Given the description of an element on the screen output the (x, y) to click on. 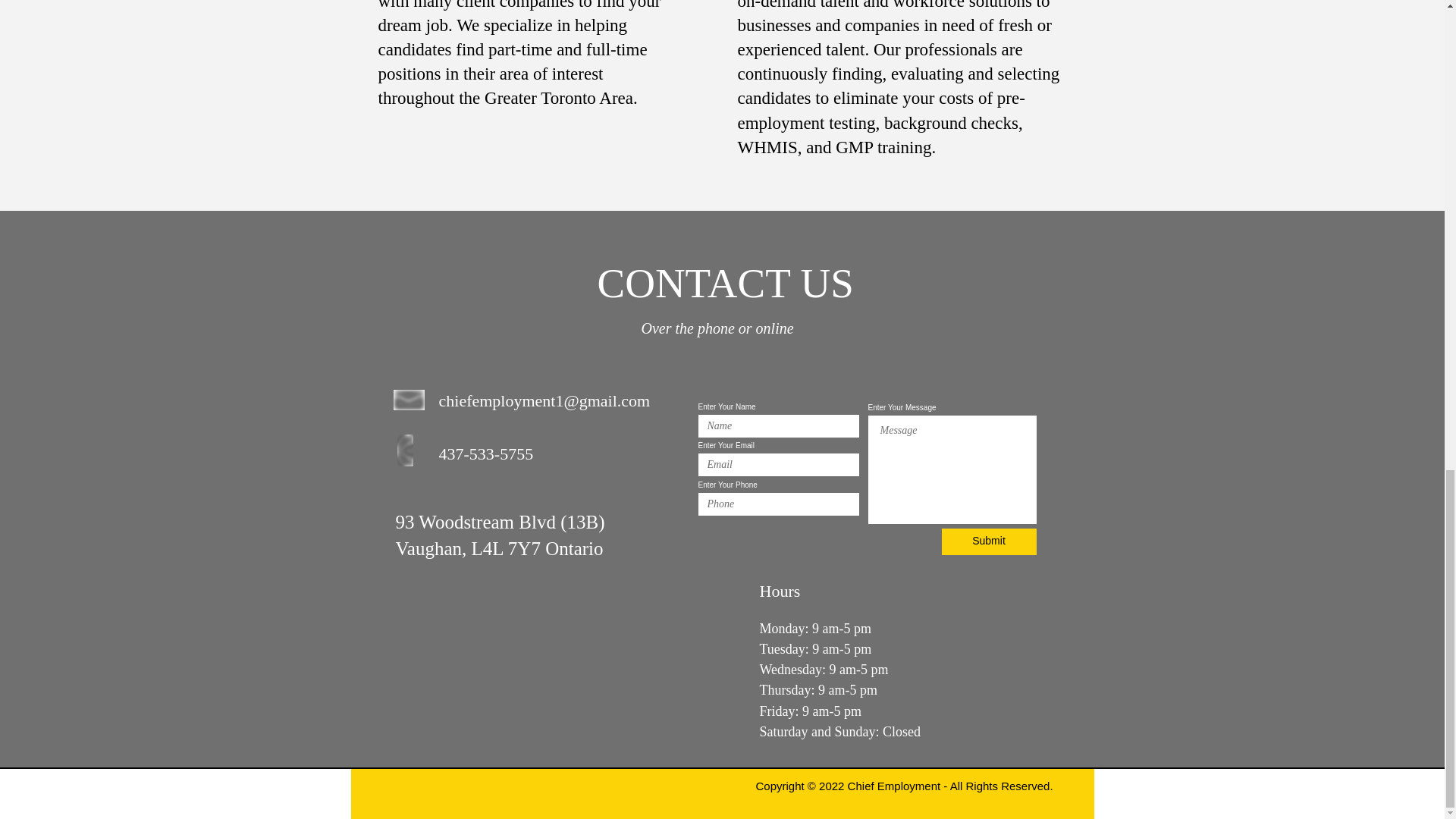
Submit (989, 541)
mail.png (409, 399)
phone.png (405, 450)
